Given the description of an element on the screen output the (x, y) to click on. 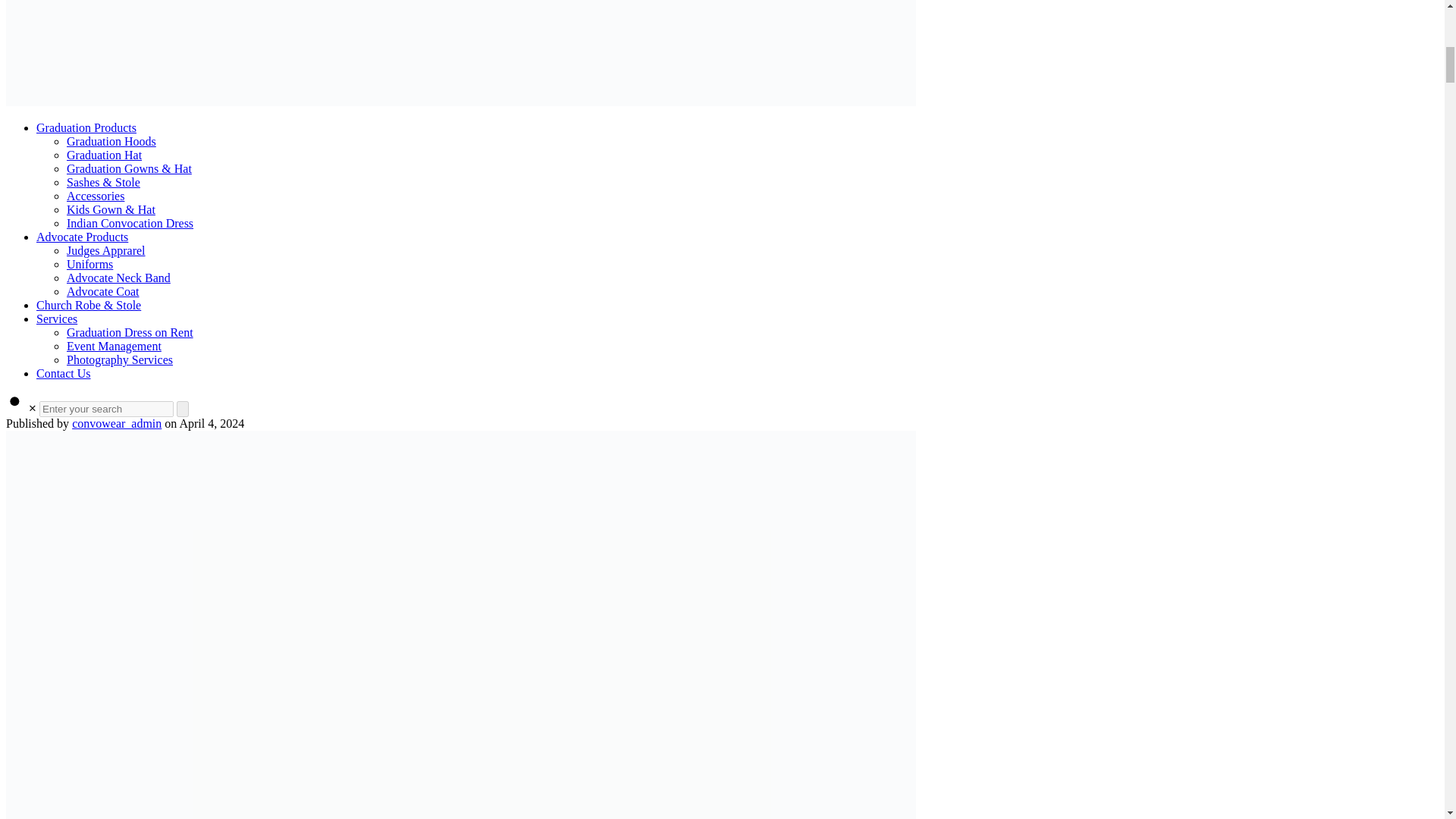
Graduation Products (86, 127)
Advocate Products (82, 236)
Advocate Neck Band (118, 277)
Event Management (113, 345)
Uniforms (89, 264)
Graduation Dress on Rent (129, 332)
Convo Wear (460, 54)
Services (56, 318)
Accessories (94, 195)
Contact Us (63, 373)
Graduation Hat (103, 154)
Graduation Hoods (110, 141)
Advocate Coat (102, 291)
Photography Services (119, 359)
Indian Convocation Dress (129, 223)
